Given the description of an element on the screen output the (x, y) to click on. 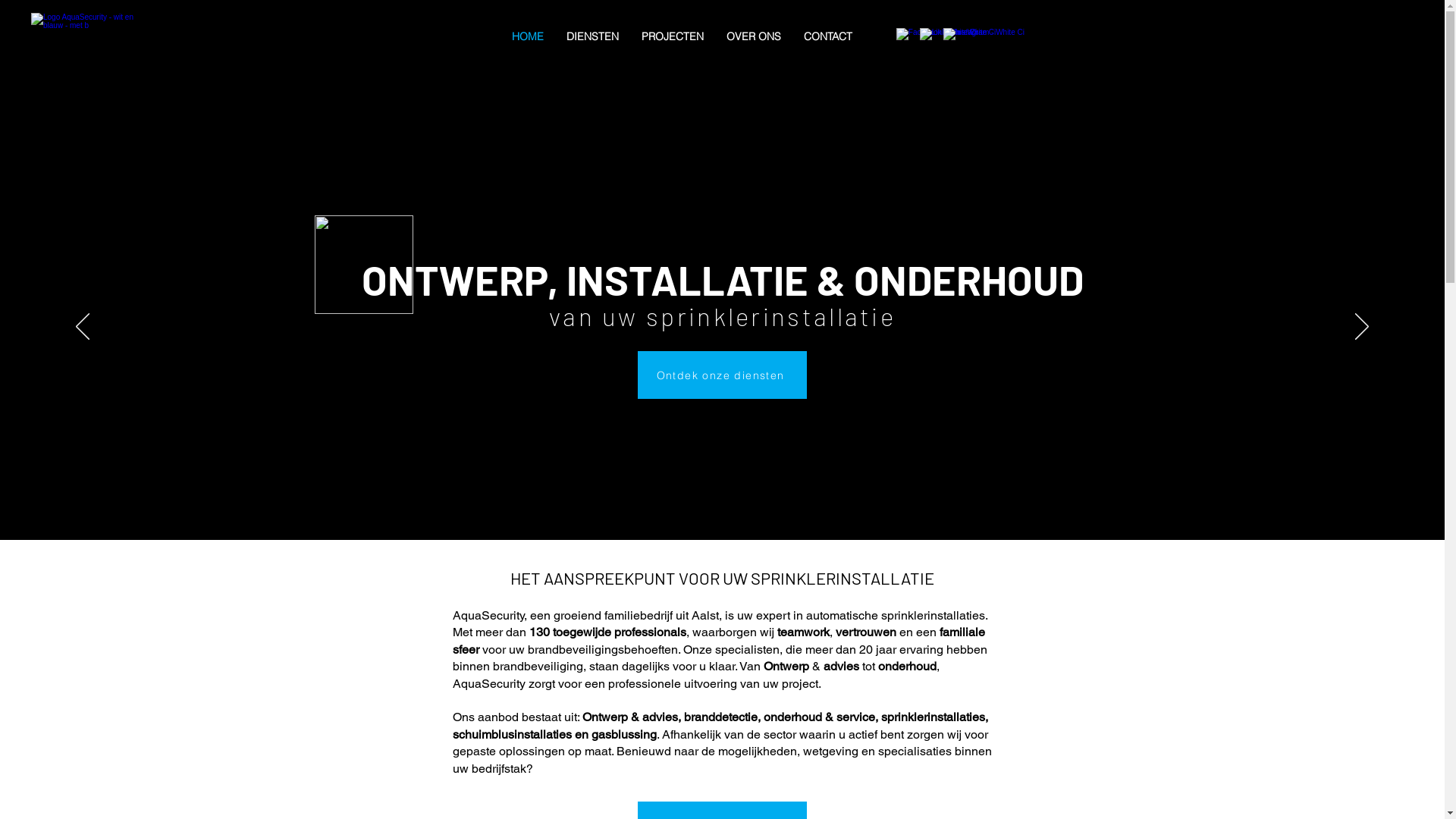
CONTACT Element type: text (827, 36)
20220610 - blauw boogje.png Element type: hover (362, 264)
HOME Element type: text (527, 36)
OVER ONS Element type: text (753, 36)
DIENSTEN Element type: text (592, 36)
PROJECTEN Element type: text (672, 36)
Ontdek onze diensten Element type: text (721, 374)
